Given the description of an element on the screen output the (x, y) to click on. 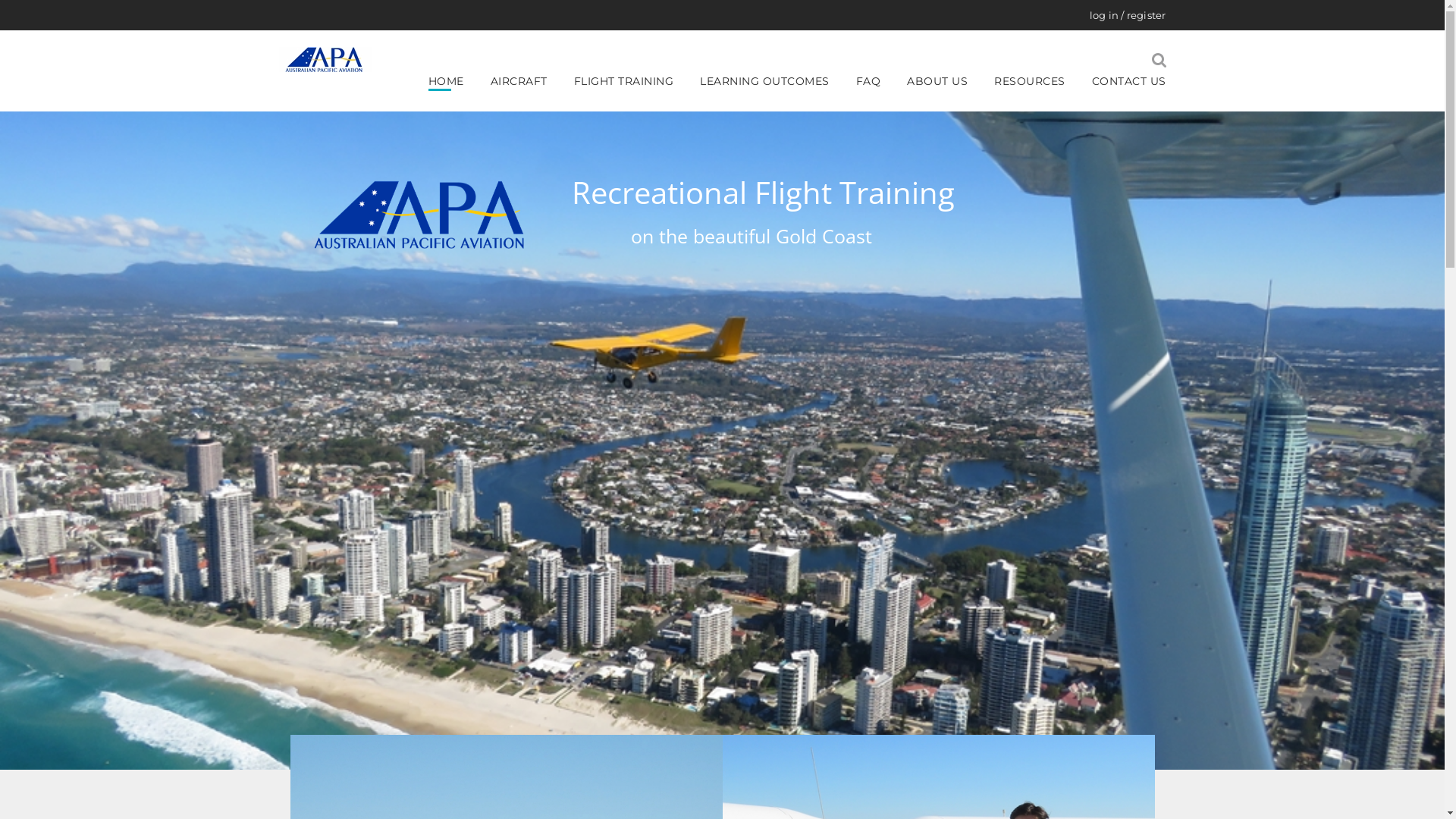
HOME Element type: text (454, 81)
FLIGHT TRAINING Element type: text (632, 81)
RESOURCES Element type: text (1039, 81)
CONTACT US Element type: text (1129, 81)
AIRCRAFT Element type: text (527, 81)
FAQ Element type: text (877, 81)
log in / register Element type: text (1127, 14)
LEARNING OUTCOMES Element type: text (773, 81)
ABOUT US Element type: text (946, 81)
